Given the description of an element on the screen output the (x, y) to click on. 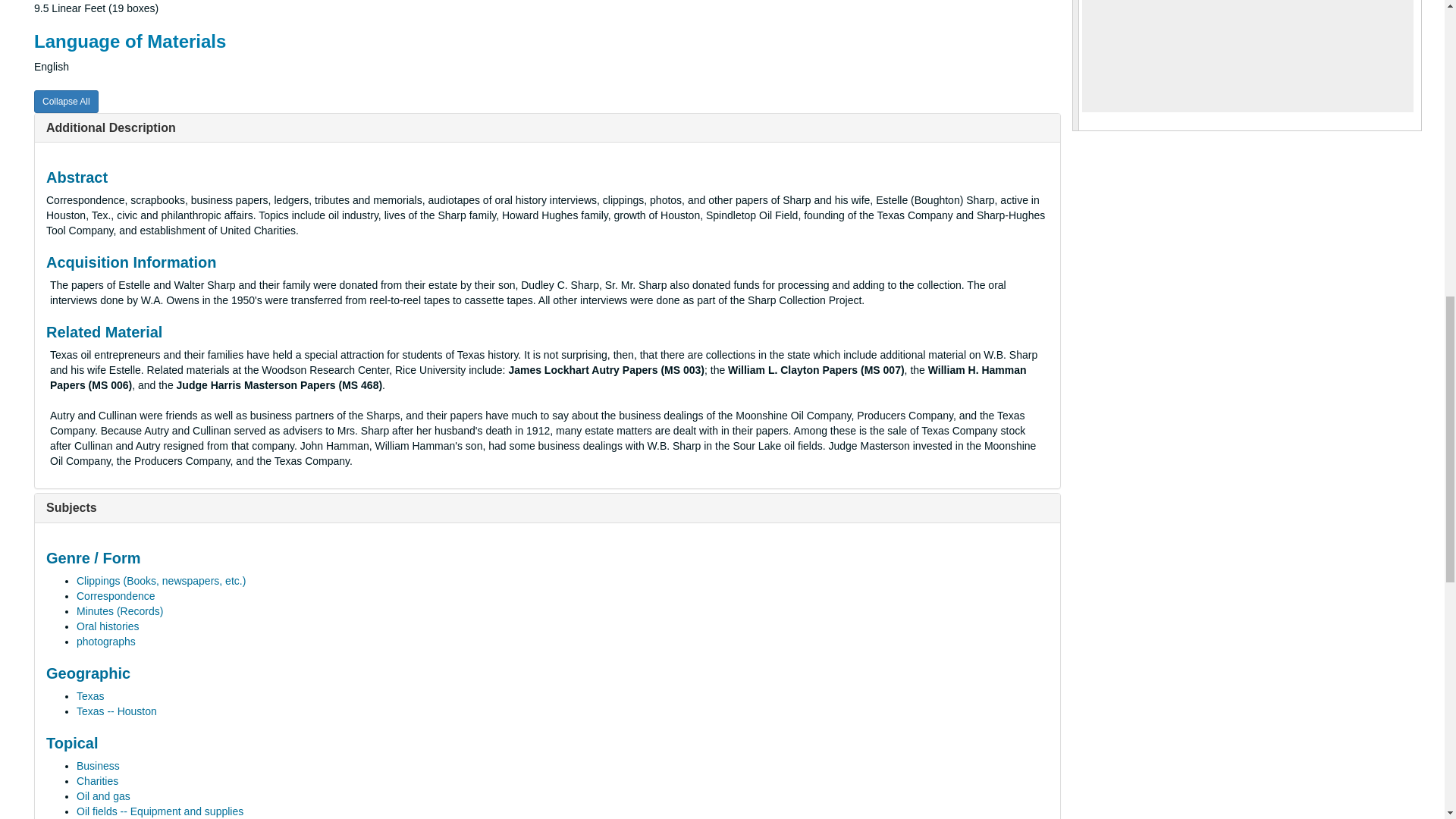
Collapse All (66, 101)
Correspondence (116, 595)
Oral histories (107, 625)
Oil fields -- Equipment and supplies (160, 811)
Oil and gas (104, 796)
Texas -- Houston (117, 711)
Business (98, 766)
Charities (97, 780)
Texas (90, 695)
photographs (106, 641)
